Given the description of an element on the screen output the (x, y) to click on. 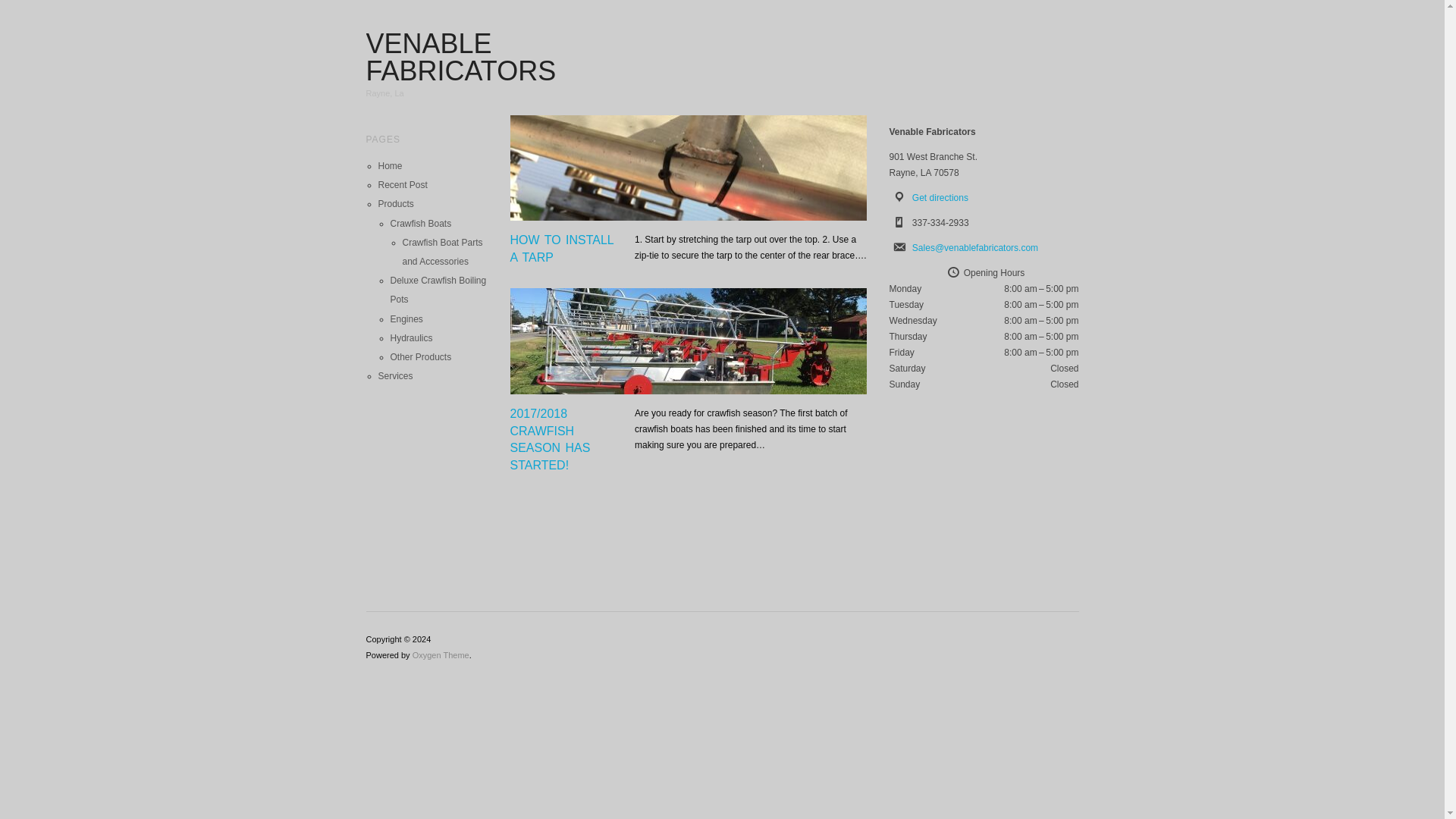
Crawfish Boats (420, 223)
Hydraulics (411, 337)
VENABLE FABRICATORS (460, 56)
Oxygen Theme (440, 655)
Crawfish Boat Parts and Accessories (441, 251)
Engines (406, 318)
Recent Post (401, 184)
Get directions (940, 197)
HOW TO INSTALL A TARP (562, 247)
Deluxe Crawfish Boiling Pots (438, 289)
